Given the description of an element on the screen output the (x, y) to click on. 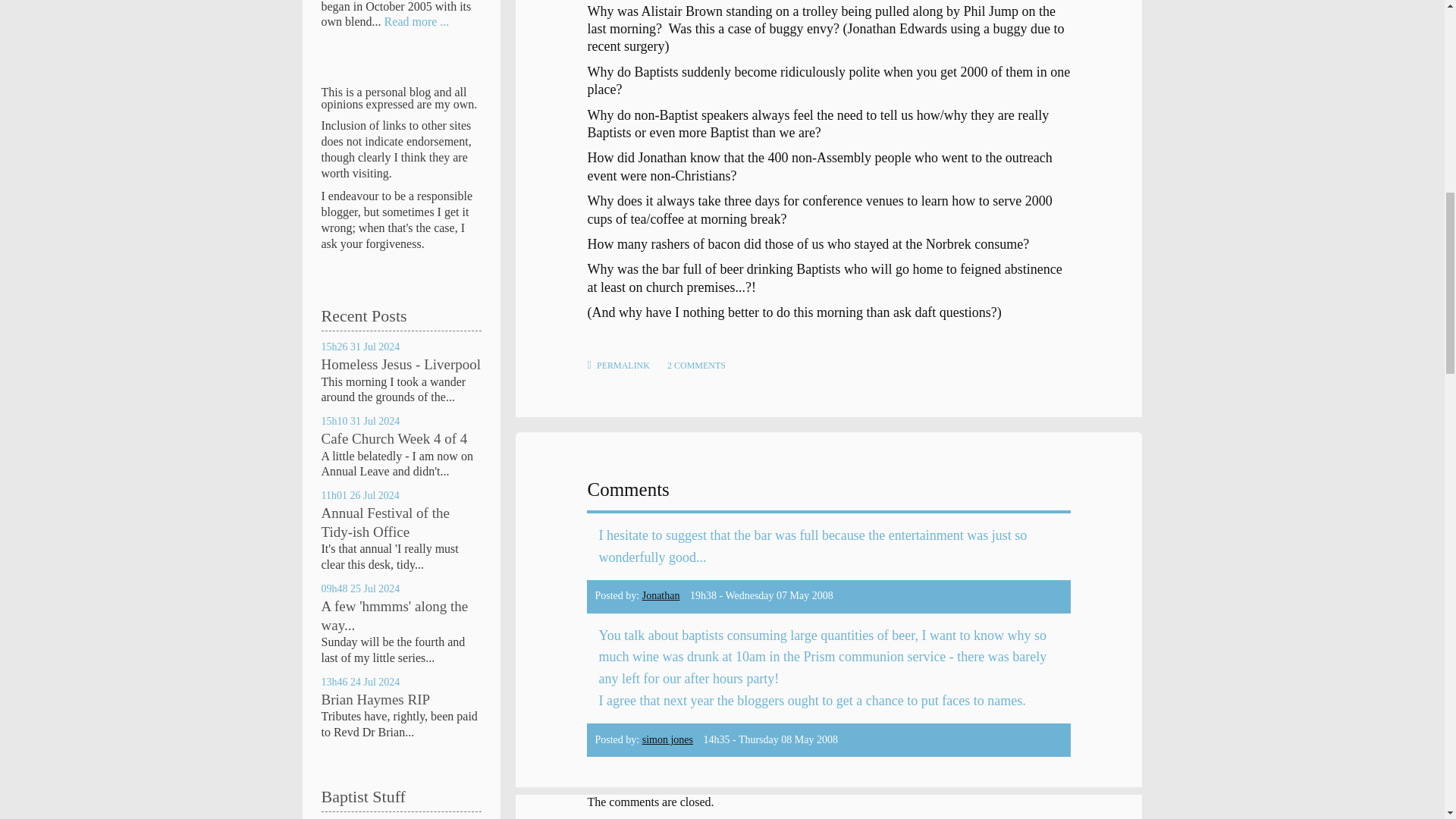
Brian Haymes RIP (375, 699)
Read more ... (416, 21)
Homeless Jesus - Liverpool (401, 364)
Annual Festival of the Tidy-ish Office (385, 522)
simon jones (667, 739)
Jonathan (660, 595)
Cafe Church Week 4 of 4 (394, 438)
A few 'hmmms' along the way... (394, 615)
